Given the description of an element on the screen output the (x, y) to click on. 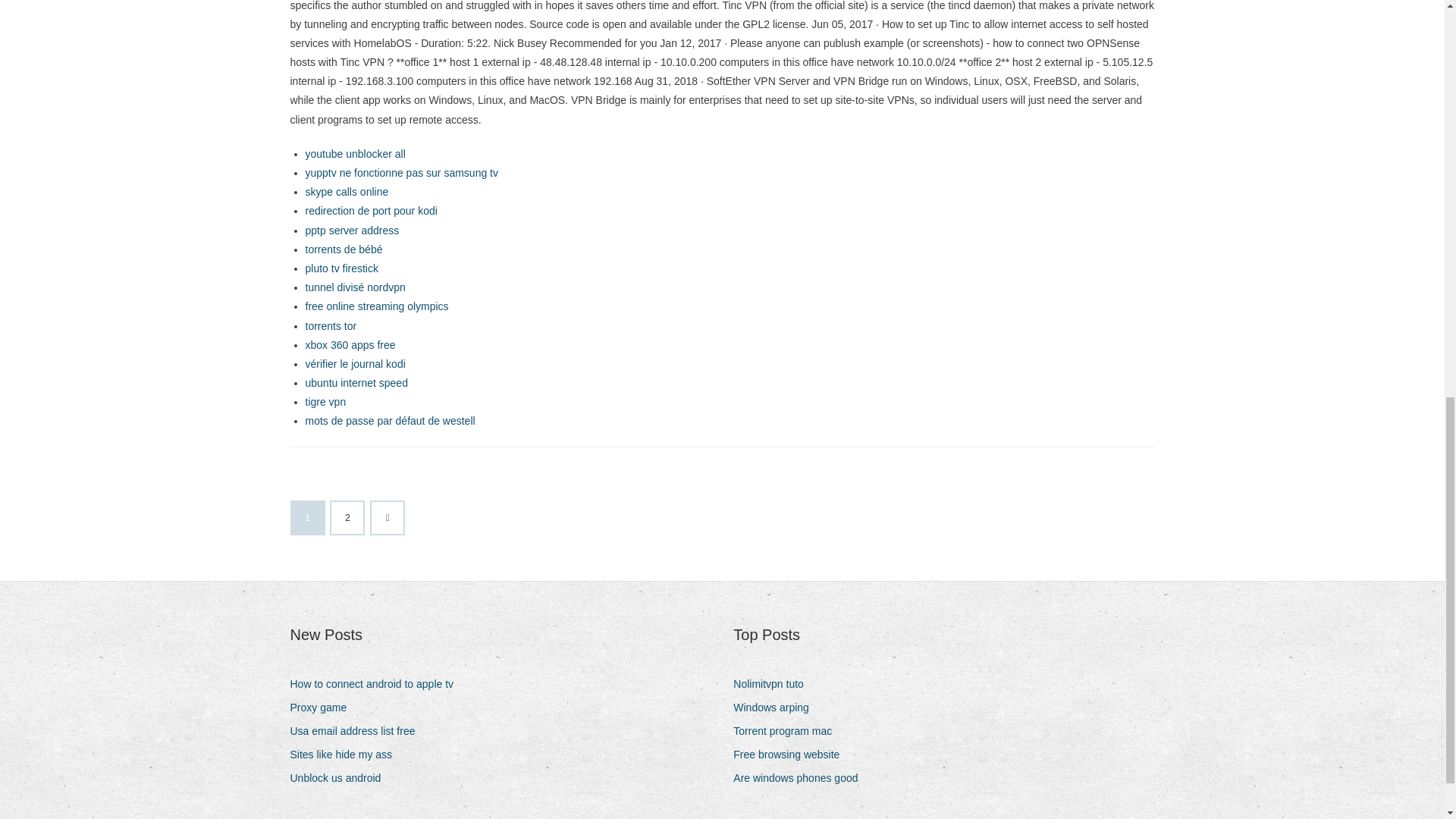
tigre vpn (325, 401)
Usa email address list free (357, 731)
Unblock us android (340, 778)
pluto tv firestick (340, 268)
ubuntu internet speed (355, 382)
youtube unblocker all (354, 153)
skype calls online (346, 191)
Nolimitvpn tuto (774, 684)
Proxy game (323, 707)
Free browsing website (791, 754)
Are windows phones good (801, 778)
pptp server address (351, 230)
torrents tor (330, 326)
How to connect android to apple tv (376, 684)
yupptv ne fonctionne pas sur samsung tv (400, 173)
